Given the description of an element on the screen output the (x, y) to click on. 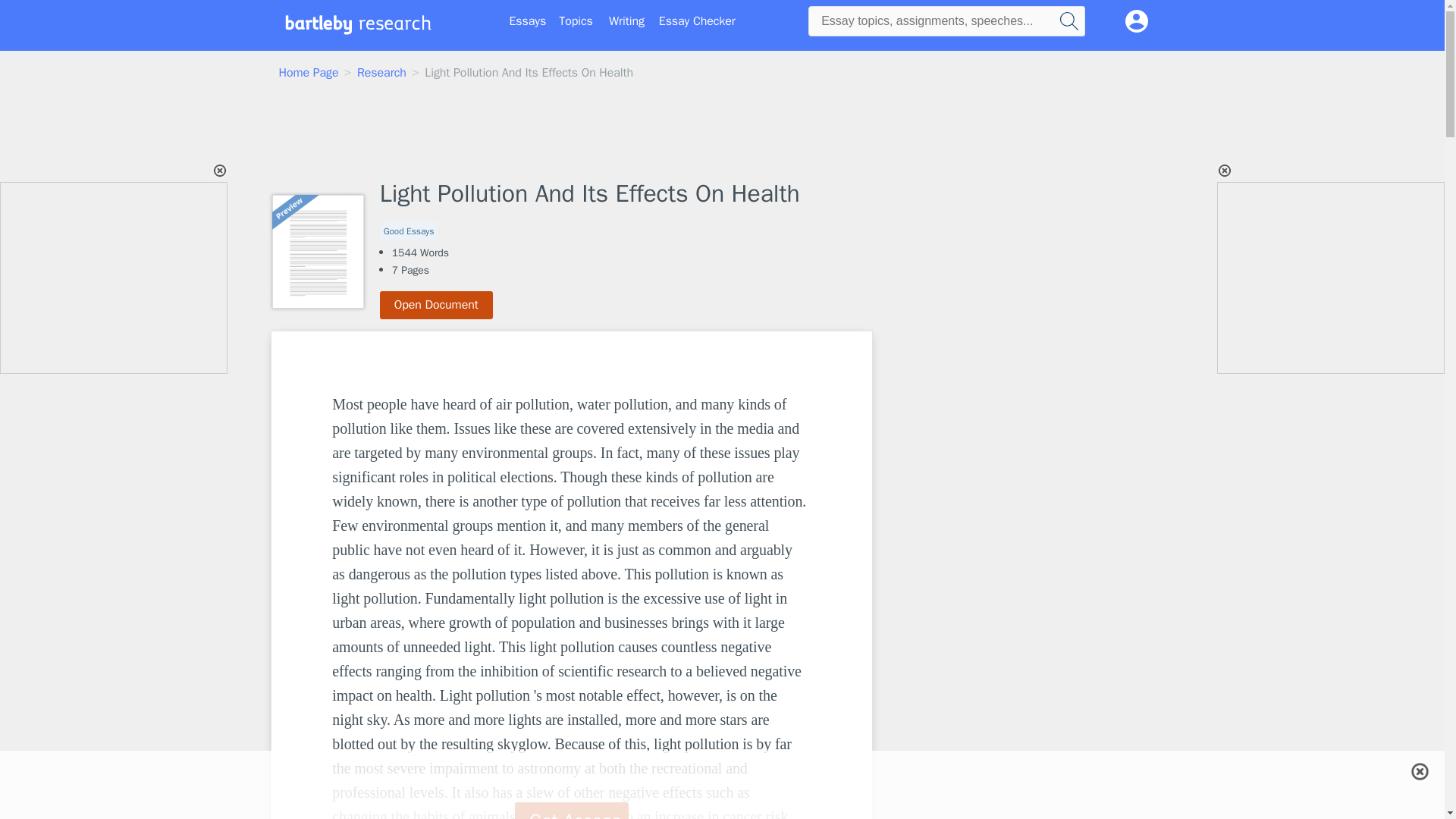
Topics (575, 20)
Writing (626, 20)
Essays (528, 20)
3rd party ad content (721, 131)
3rd party ad content (721, 769)
3rd party ad content (114, 277)
Home Page (309, 72)
Open Document (436, 305)
Essay Checker (697, 20)
3rd party ad content (997, 425)
Research (381, 72)
Get Access (571, 810)
